Given the description of an element on the screen output the (x, y) to click on. 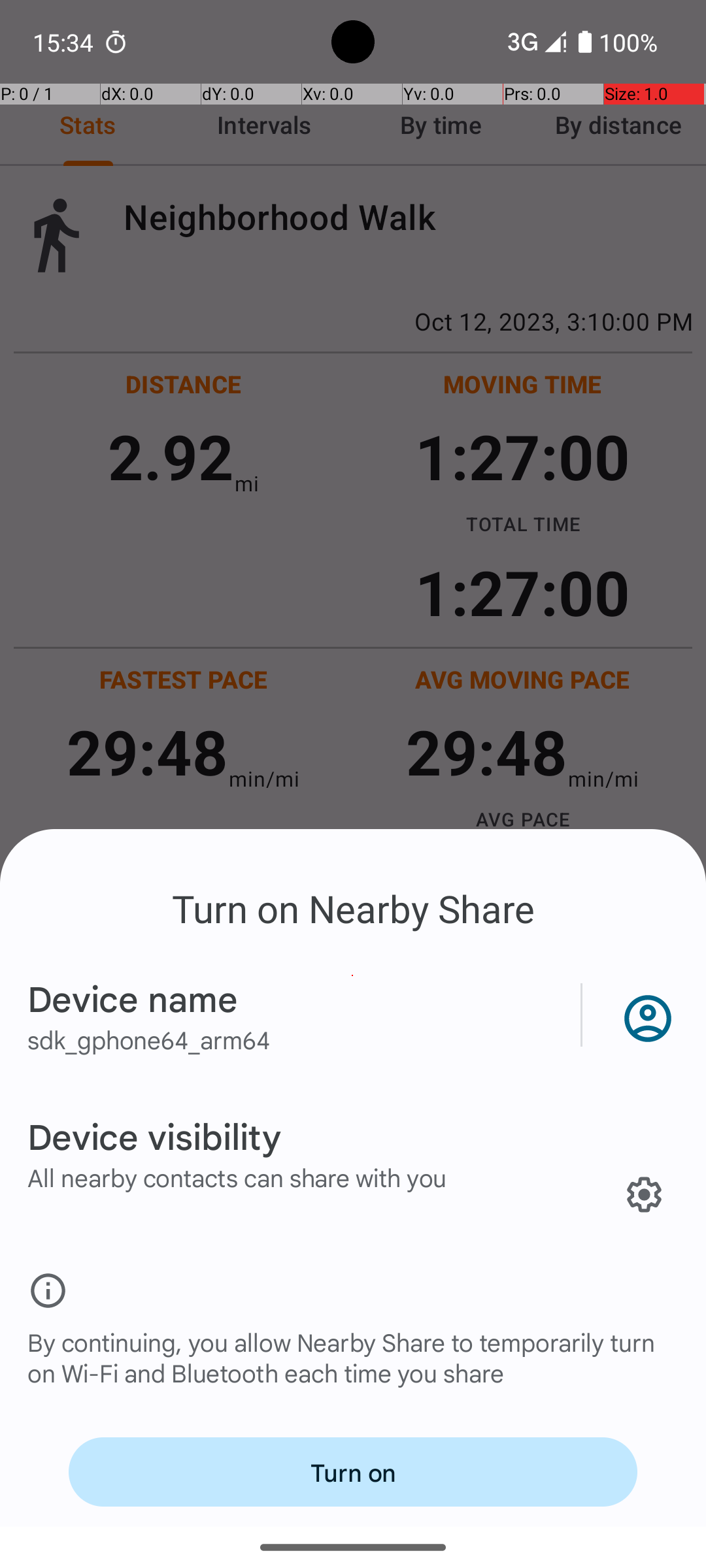
Turn on Nearby Share Element type: android.widget.TextView (353, 908)
No account found Element type: android.widget.FrameLayout (644, 1014)
By continuing, you allow Nearby Share to temporarily turn on Wi-Fi and Bluetooth each time you share Element type: android.widget.TextView (353, 1370)
Turn on Element type: android.widget.Button (352, 1471)
Device name Element type: android.widget.TextView (132, 997)
Device visibility Element type: android.widget.TextView (154, 1135)
All nearby contacts can share with you Element type: android.widget.TextView (237, 1177)
